Given the description of an element on the screen output the (x, y) to click on. 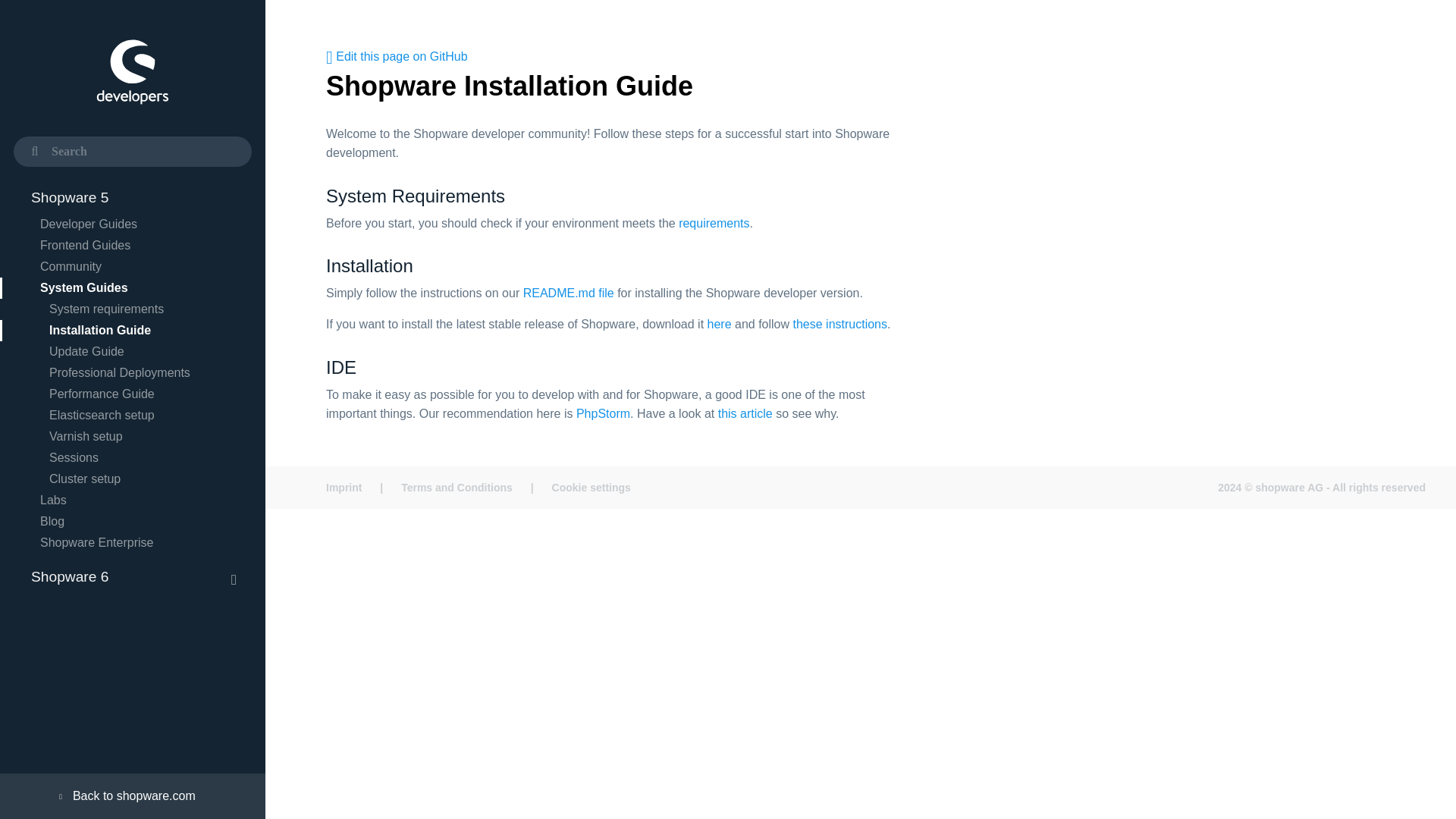
Imprint (344, 487)
Cookie settings (591, 487)
Developer Guides (132, 224)
Shopware Developer Documentation (132, 76)
Shopware 5 (132, 197)
Terms and Conditions (456, 487)
